Given the description of an element on the screen output the (x, y) to click on. 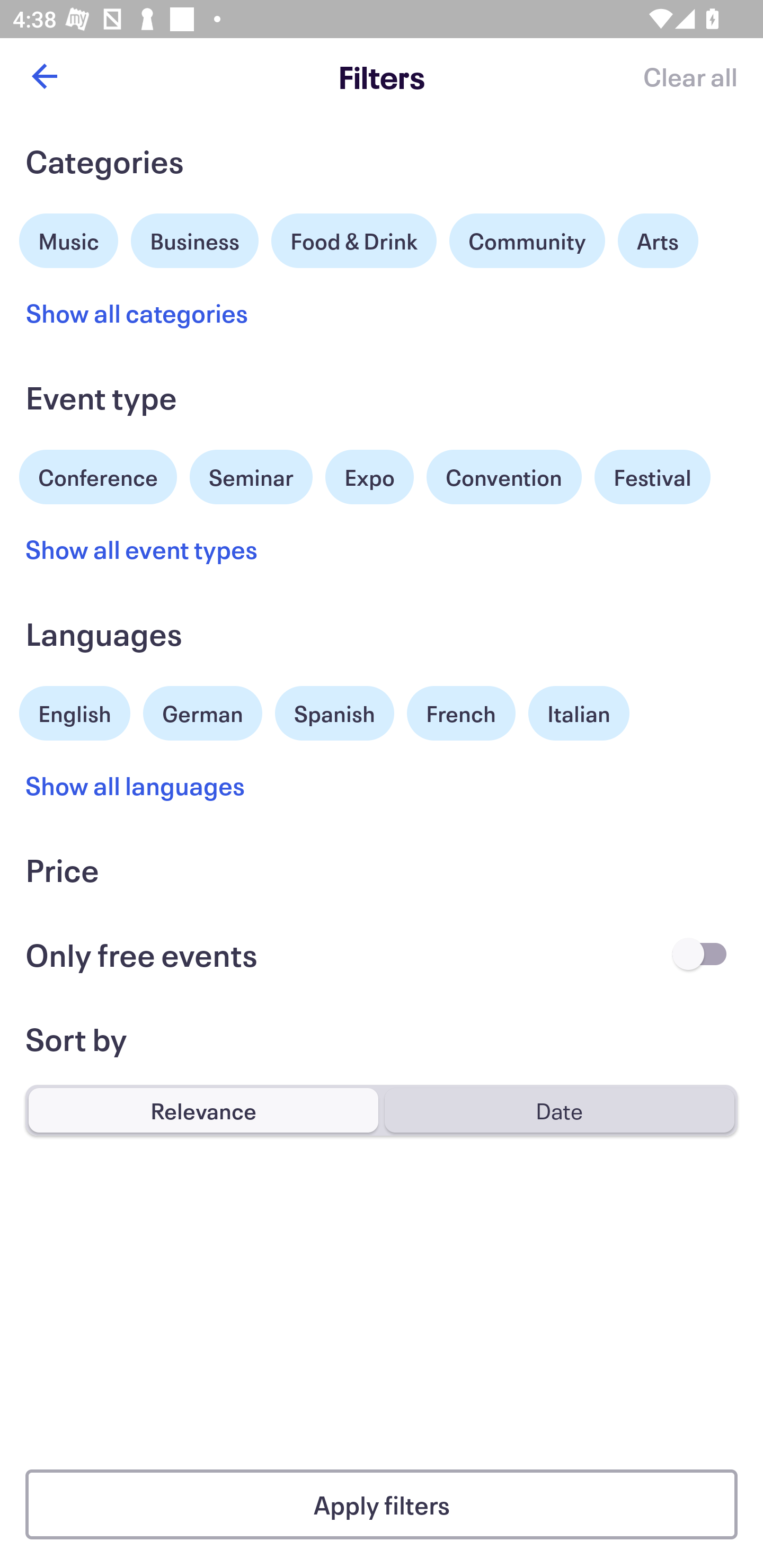
Back button (44, 75)
Clear all (690, 75)
Music (68, 238)
Business (194, 238)
Food & Drink (353, 240)
Community (527, 240)
Arts (658, 240)
Show all categories (136, 312)
Conference (98, 475)
Seminar (250, 477)
Expo (369, 477)
Convention (503, 477)
Festival (652, 477)
Show all event types (141, 548)
English (74, 710)
German (202, 710)
Spanish (334, 713)
French (460, 713)
Italian (578, 713)
Show all languages (135, 784)
Relevance (203, 1109)
Date (559, 1109)
Apply filters (381, 1504)
